Given the description of an element on the screen output the (x, y) to click on. 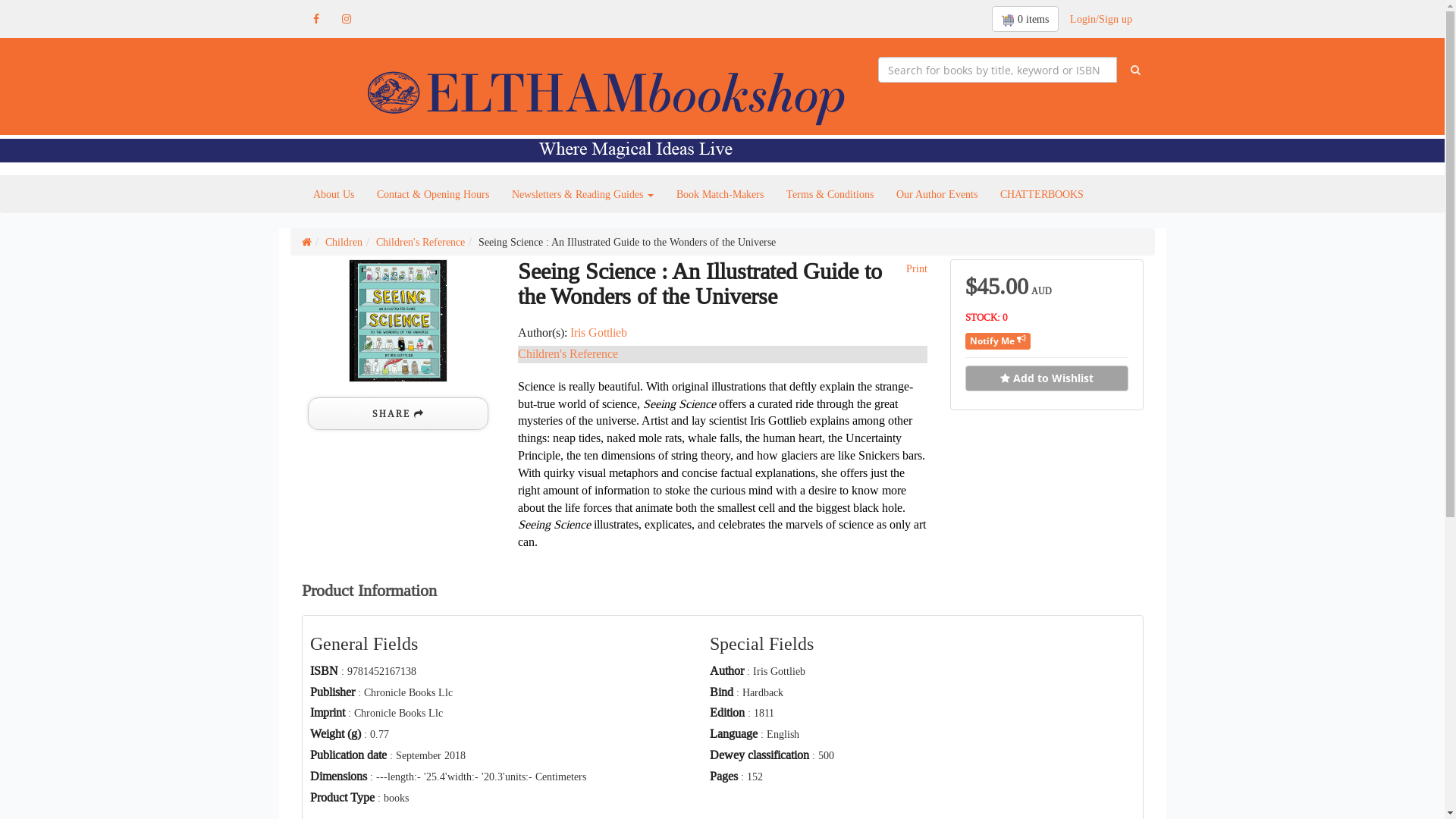
0 items Element type: text (1024, 18)
0 items Element type: text (1024, 18)
SHARE Element type: text (397, 413)
CHATTERBOOKS Element type: text (1041, 194)
Iris Gottlieb Element type: text (598, 332)
Notify Me Element type: text (997, 340)
Add to Wishlist Element type: text (1045, 378)
Book Match-Makers Element type: text (719, 194)
Contact & Opening Hours Element type: text (432, 194)
 Print Element type: text (914, 268)
Login/Sign up Element type: text (1100, 18)
About Us Element type: text (333, 194)
Children's Reference Element type: text (420, 241)
Terms & Conditions Element type: text (829, 194)
Children Element type: text (342, 241)
Our Author Events Element type: text (936, 194)
Children's Reference Element type: text (567, 353)
Newsletters & Reading Guides  Element type: text (582, 194)
